Given the description of an element on the screen output the (x, y) to click on. 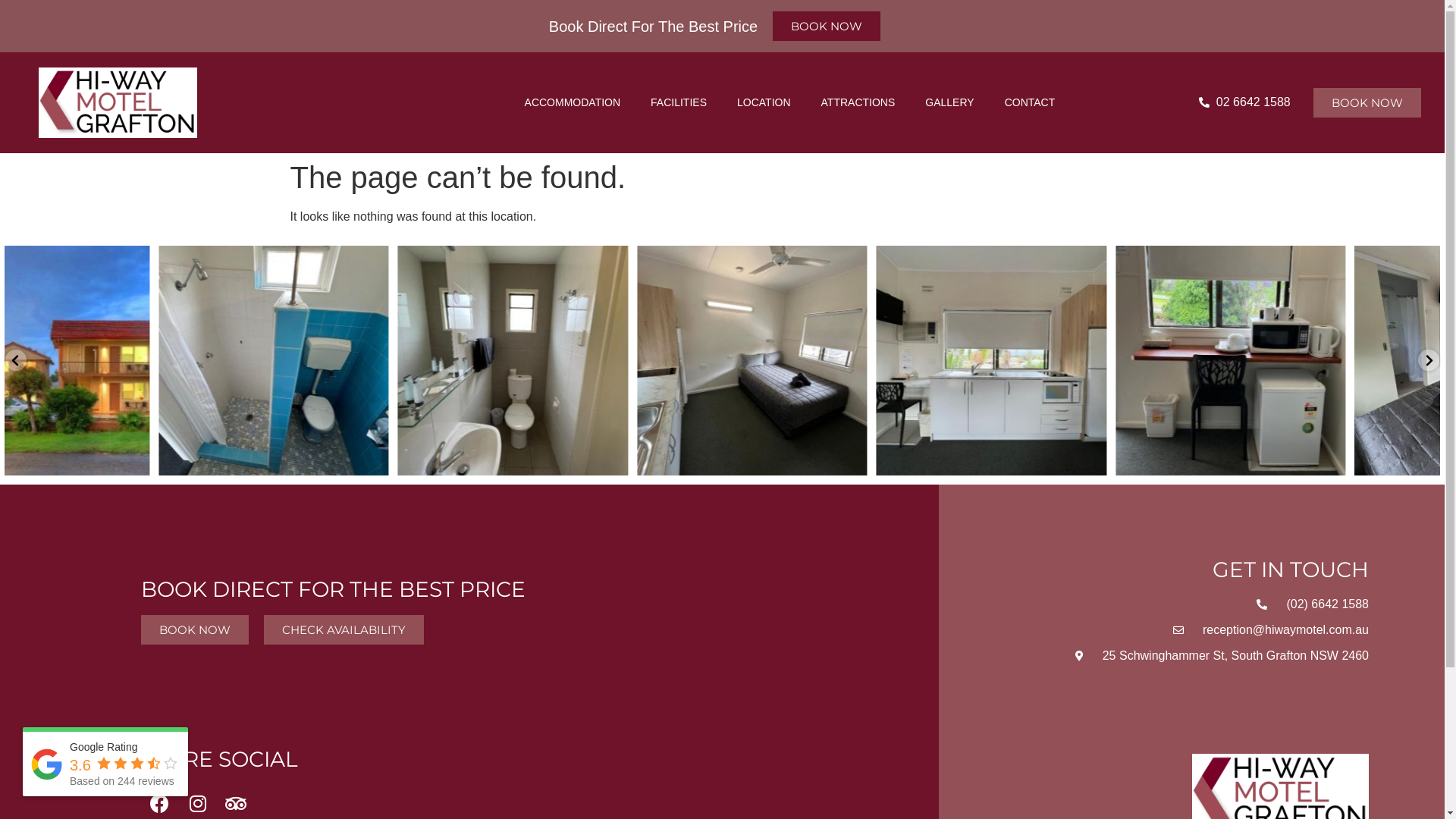
CONTACT Element type: text (1029, 102)
(02) 6642 1588 Element type: text (1191, 604)
LOCATION Element type: text (763, 102)
Google Rating
3.6
Based on 244 reviews Element type: text (105, 763)
02 6642 1588 Element type: text (1243, 102)
GALLERY Element type: text (949, 102)
ATTRACTIONS Element type: text (858, 102)
CHECK AVAILABILITY Element type: text (343, 629)
BOOK NOW Element type: text (826, 25)
FACILITIES Element type: text (678, 102)
BOOK NOW Element type: text (194, 629)
BOOK NOW Element type: text (1367, 102)
ACCOMMODATION Element type: text (572, 102)
